Given the description of an element on the screen output the (x, y) to click on. 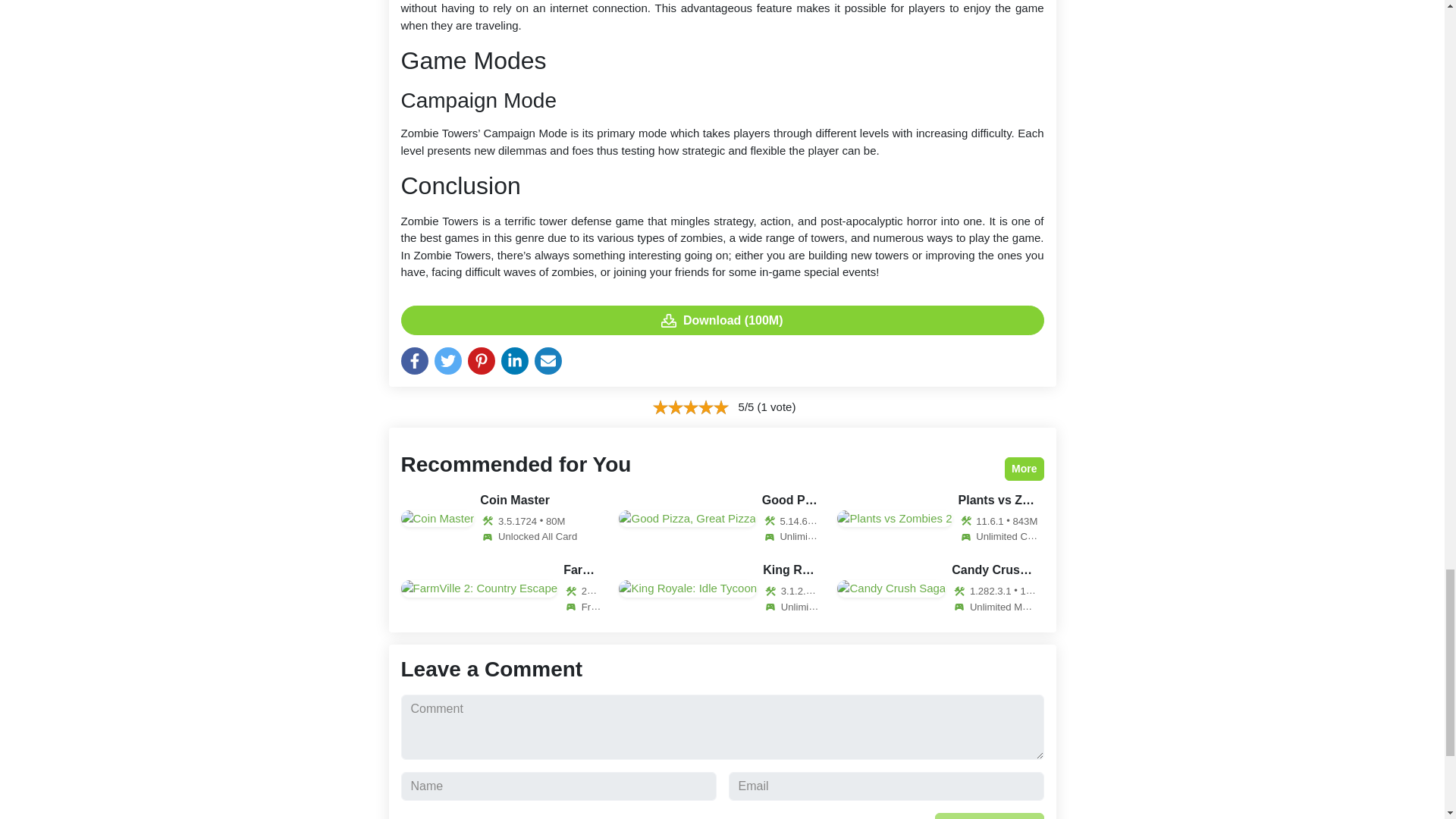
FarmVille 2: Country Escape (503, 588)
Candy Crush Saga (940, 588)
Coin Master (503, 518)
Good Pizza, Great Pizza (721, 518)
Plants vs Zombies 2 (940, 518)
King Royale: Idle Tycoon (721, 588)
